Given the description of an element on the screen output the (x, y) to click on. 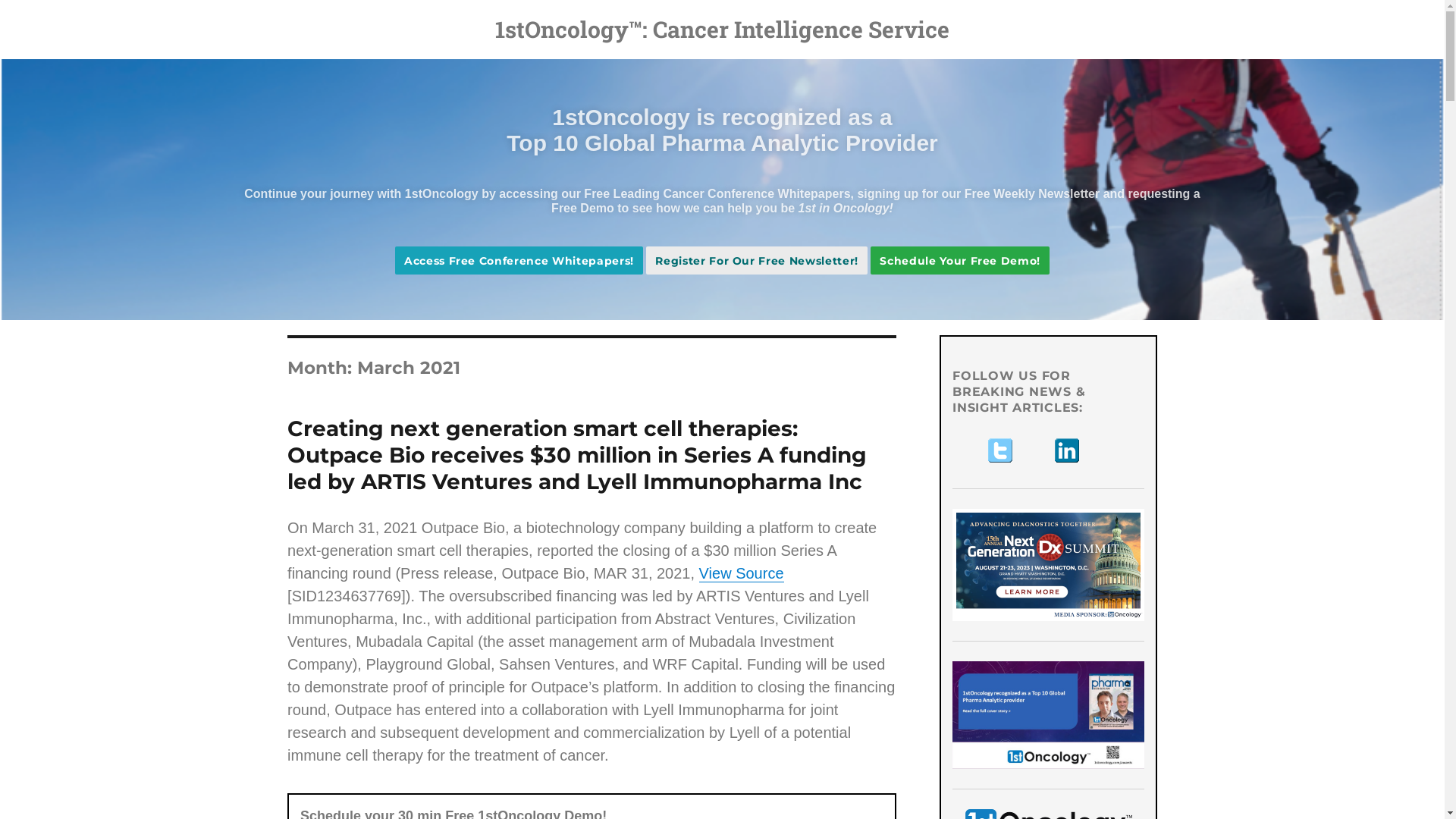
Next Generation DX Summit 23 Element type: hover (1048, 564)
Register For Our Free Newsletter! Element type: text (756, 260)
Follow us on Twitter Element type: hover (1000, 450)
Access Free Conference Whitepapers! Element type: text (519, 260)
1stOncology a Top 10 Pharma Analytic Provider Element type: hover (1048, 714)
Register For Our Free Newsletter! Element type: text (756, 260)
Schedule Your Free Demo! Element type: text (959, 260)
Access Free Conference Whitepapers! Element type: text (519, 260)
View Source Element type: text (741, 572)
Schedule Your Free Demo! Element type: text (959, 260)
